Given the description of an element on the screen output the (x, y) to click on. 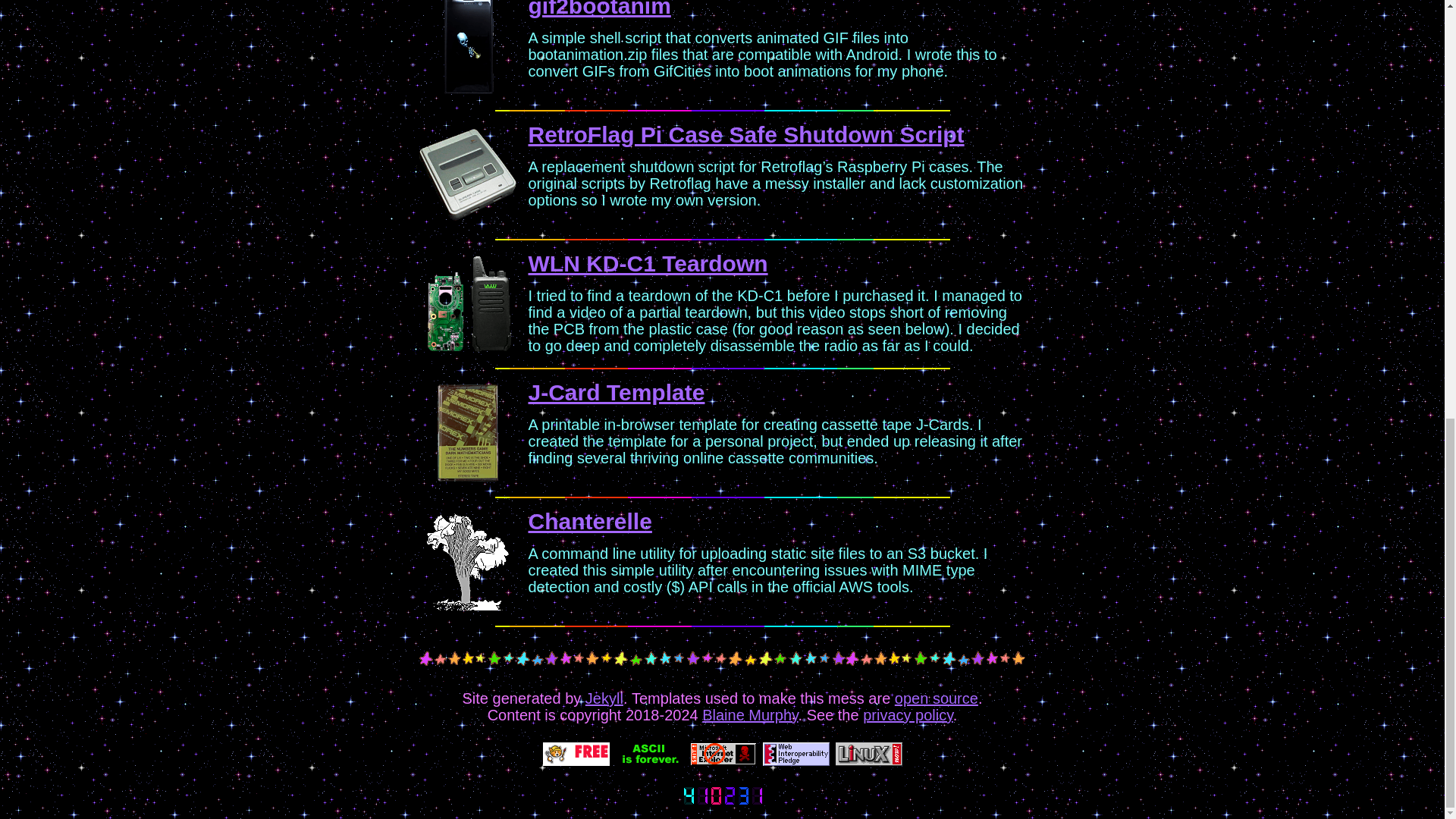
Chanterelle (588, 520)
gif2bootanim (598, 9)
J-Card Template (615, 392)
Jekyll (604, 698)
